Given the description of an element on the screen output the (x, y) to click on. 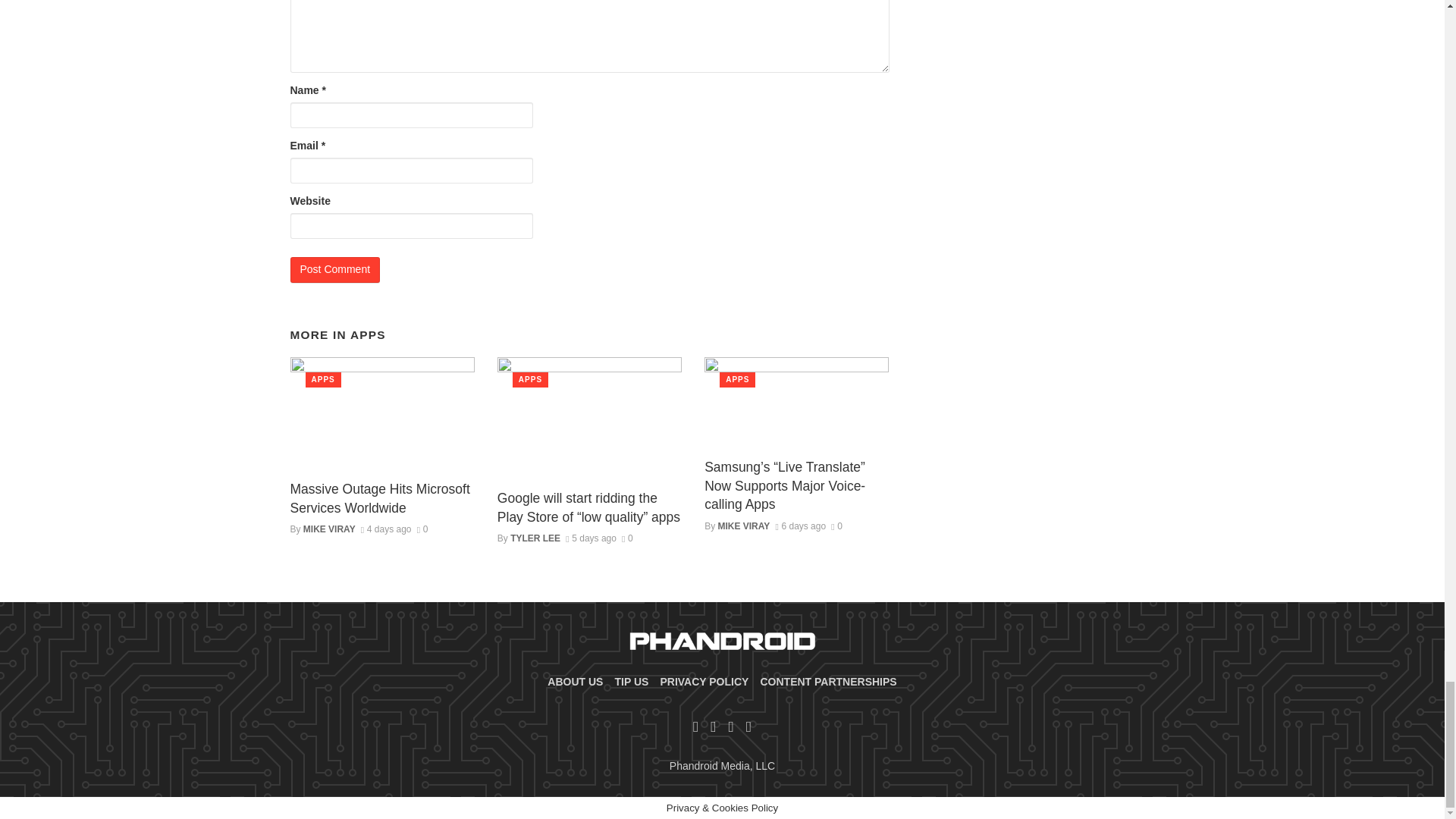
Post Comment (334, 269)
